Given the description of an element on the screen output the (x, y) to click on. 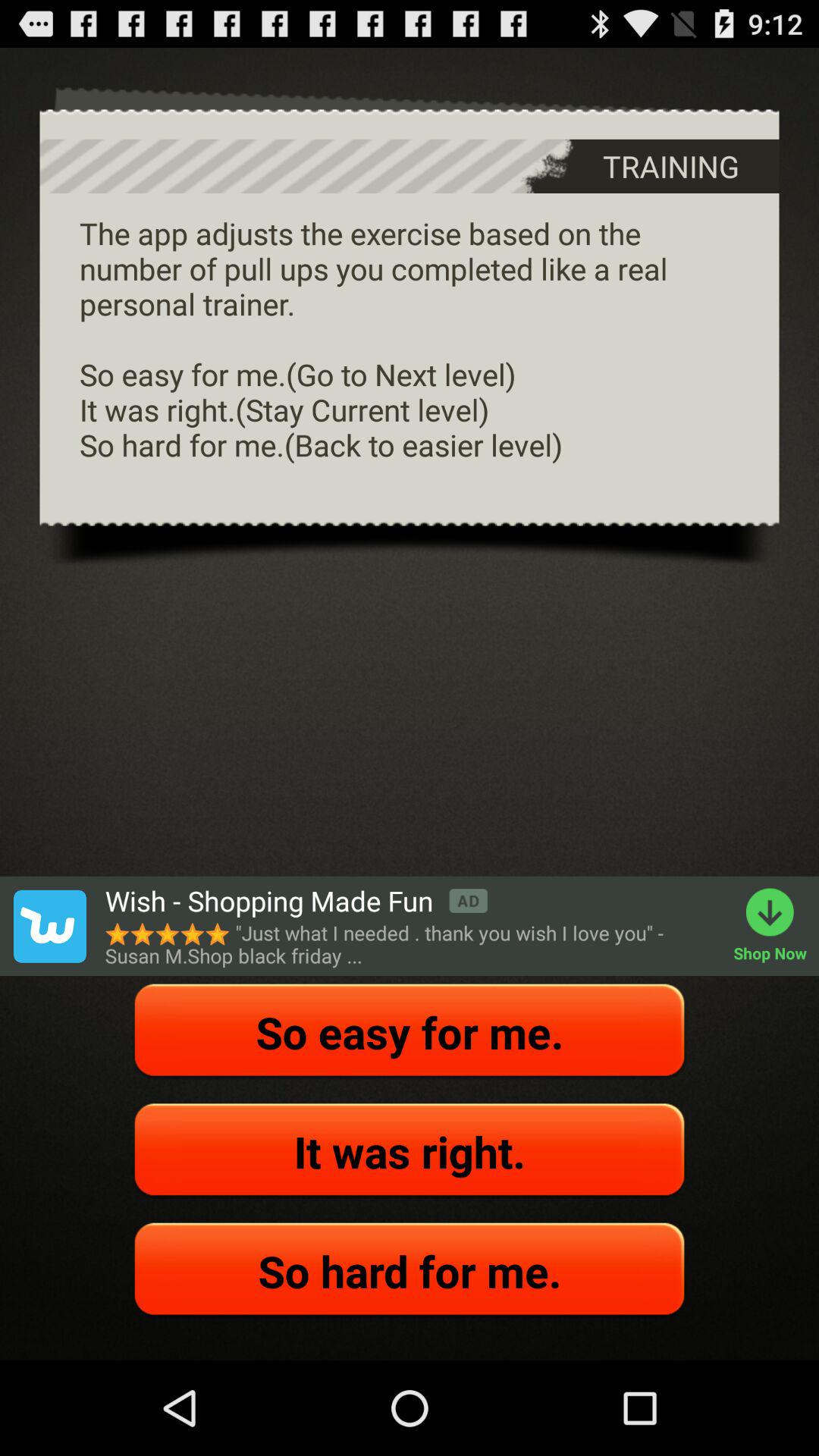
launch the item to the right of just what i (776, 926)
